Given the description of an element on the screen output the (x, y) to click on. 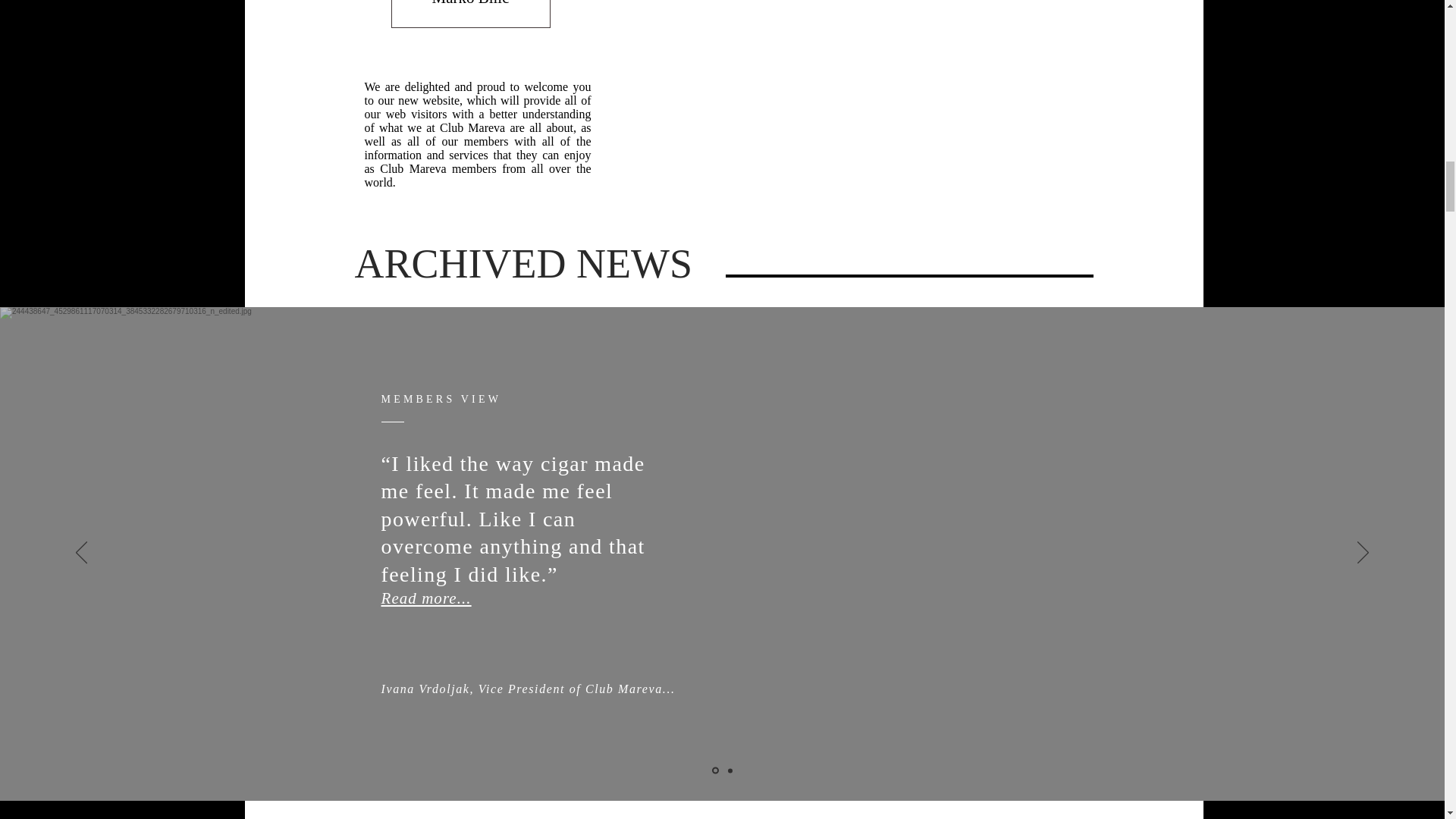
Read more... (425, 597)
